Given the description of an element on the screen output the (x, y) to click on. 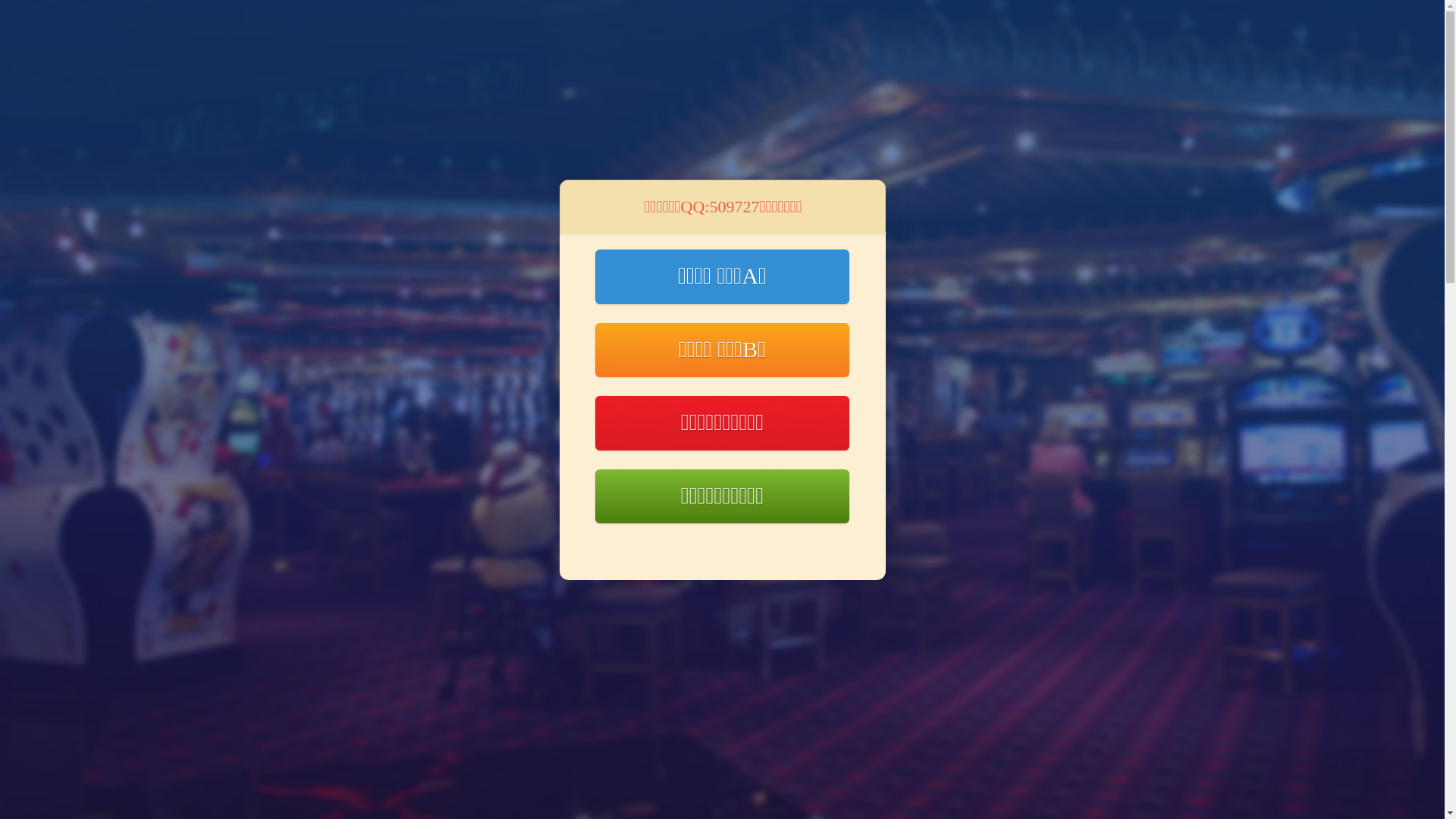
Colibri Element type: text (908, 773)
